Given the description of an element on the screen output the (x, y) to click on. 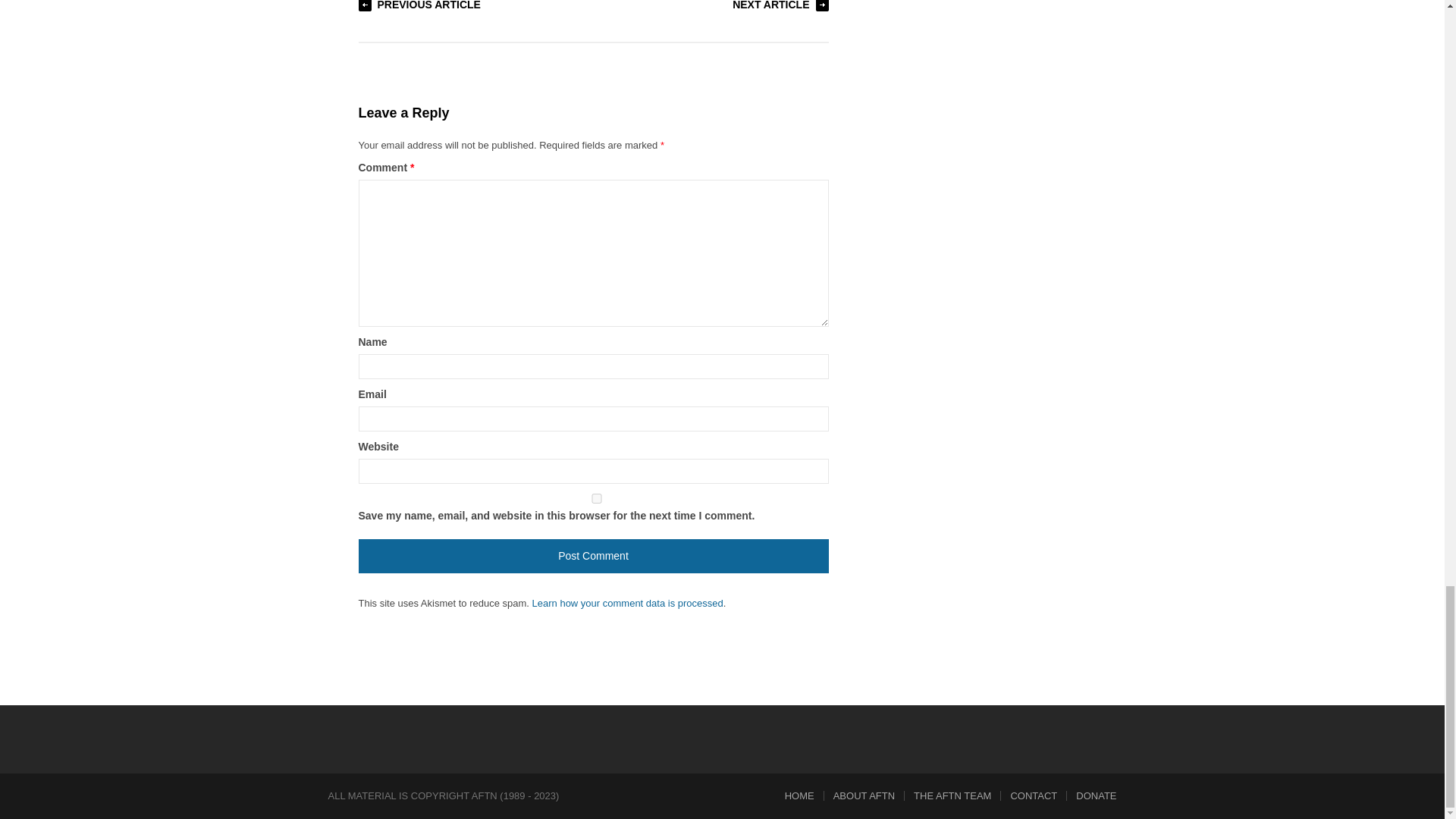
Post Comment (593, 555)
yes (596, 498)
